Given the description of an element on the screen output the (x, y) to click on. 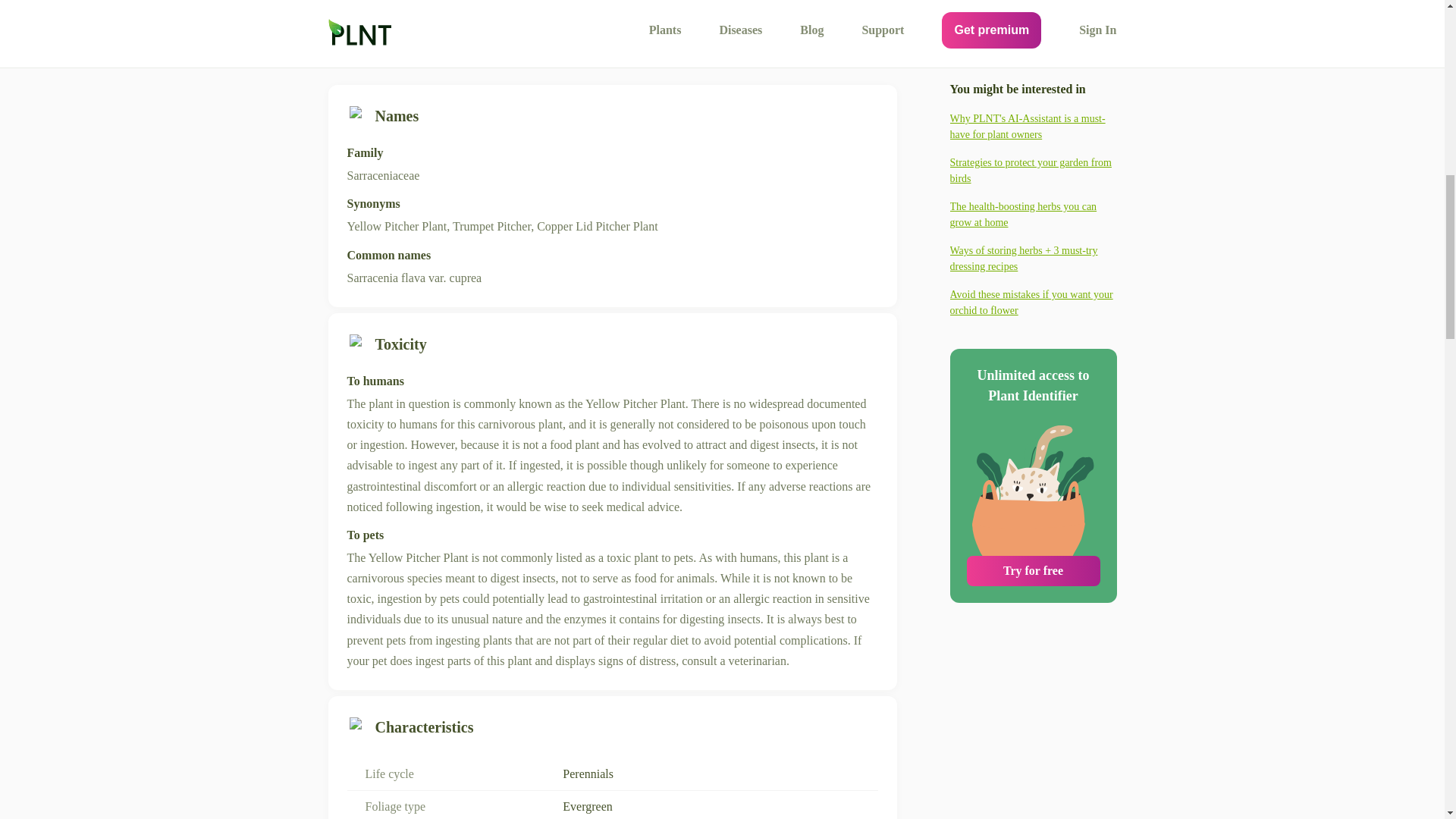
The health-boosting herbs you can grow at home (1032, 93)
Try for free (1032, 450)
Avoid these mistakes if you want your orchid to flower (1032, 182)
Strategies to protect your garden from birds (1032, 50)
Why PLNT's AI-Assistant is a must-have for plant owners (1032, 11)
